Given the description of an element on the screen output the (x, y) to click on. 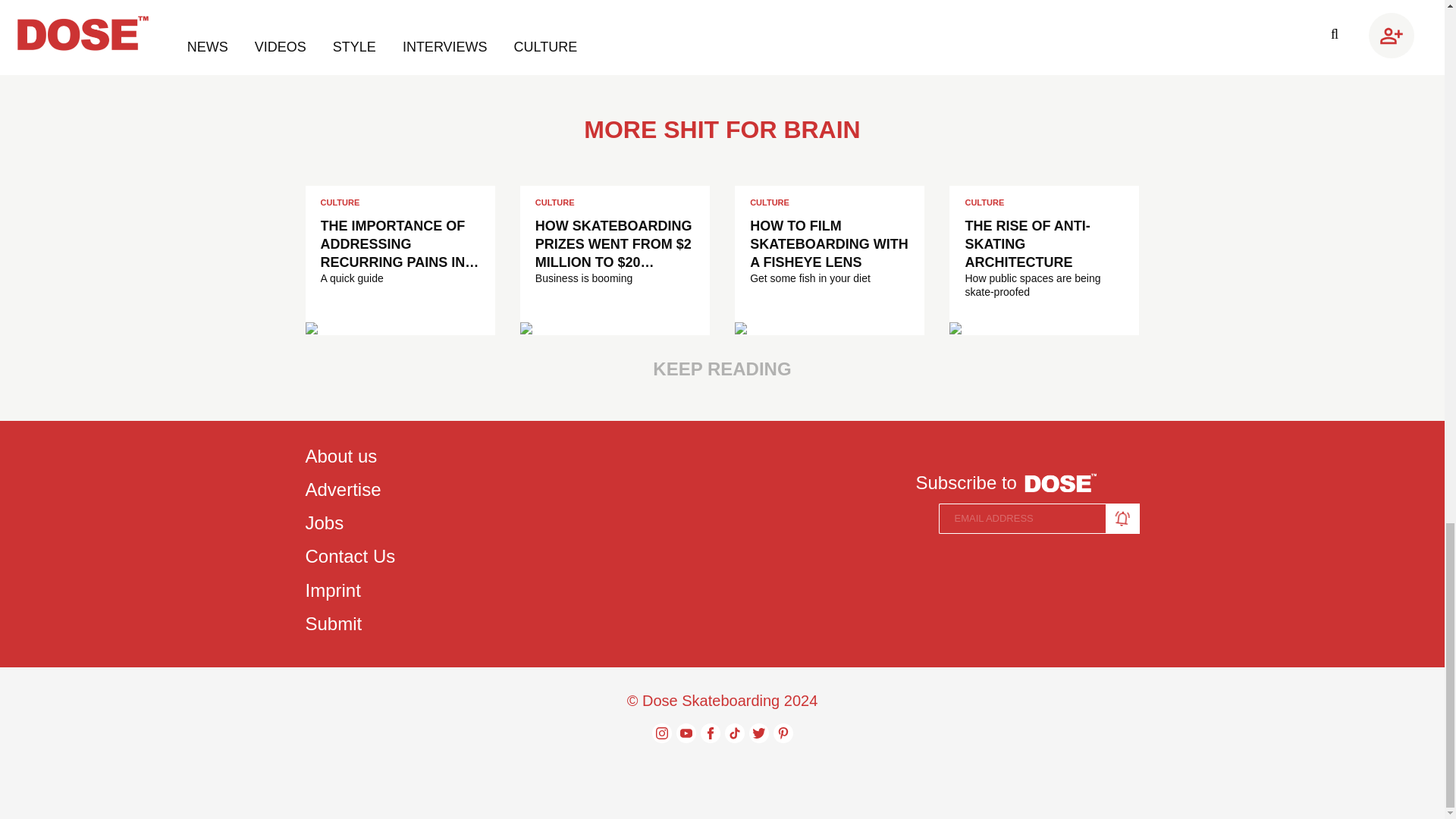
Submit (349, 623)
24.04.24 20:39 (995, 325)
Advertise (349, 489)
The Rise of Anti-Skating Architecture  (954, 327)
Imprint (349, 590)
HOW TO FILM SKATEBOARDING WITH A FISHEYE LENS (828, 244)
KEEP READING (721, 368)
Contact Us (349, 556)
